Given the description of an element on the screen output the (x, y) to click on. 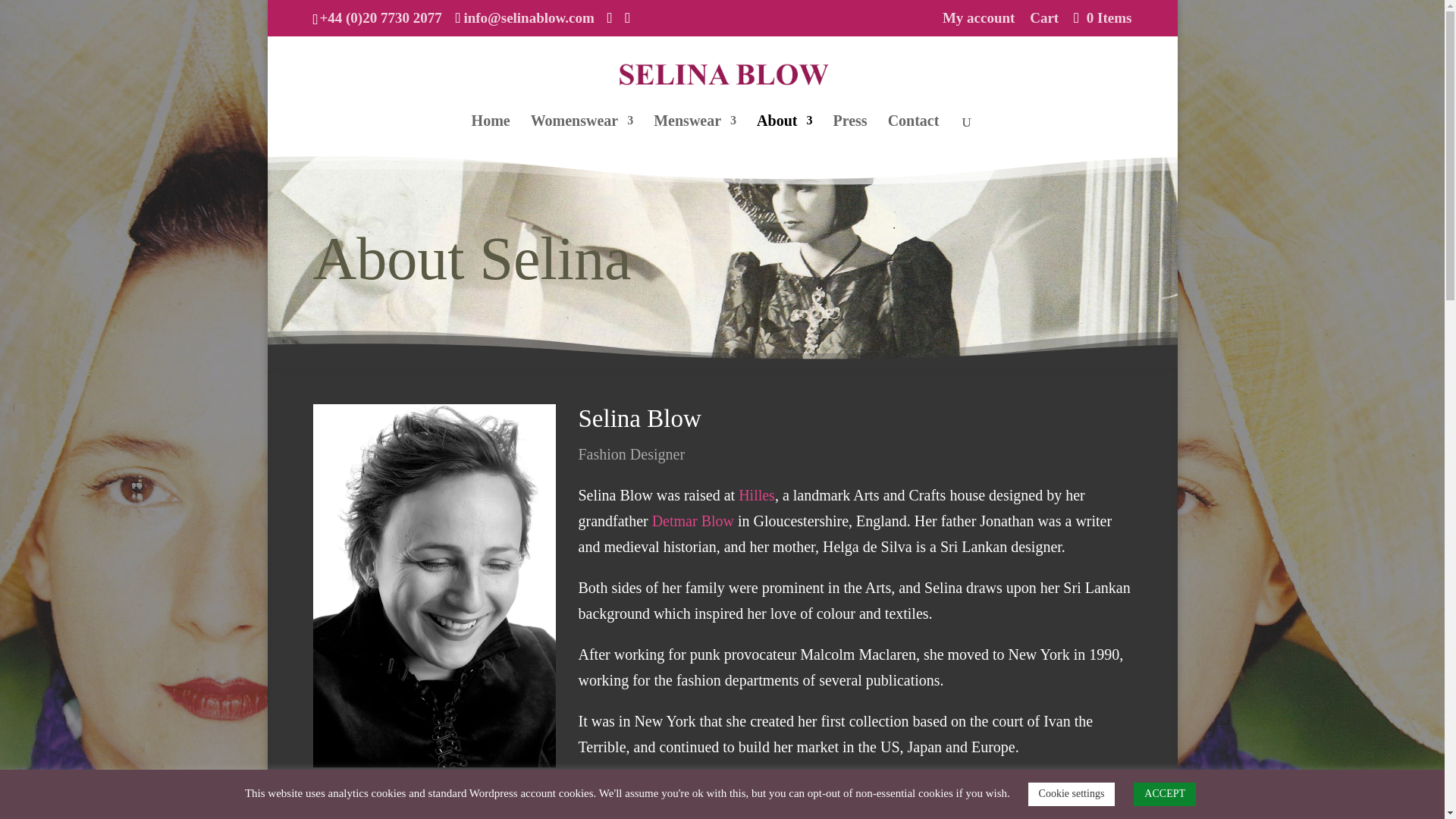
My account (978, 23)
0 Items (1100, 17)
Cart (1043, 23)
Contact (913, 135)
About (784, 135)
Menswear (694, 135)
Womenswear (582, 135)
Home (491, 135)
